Given the description of an element on the screen output the (x, y) to click on. 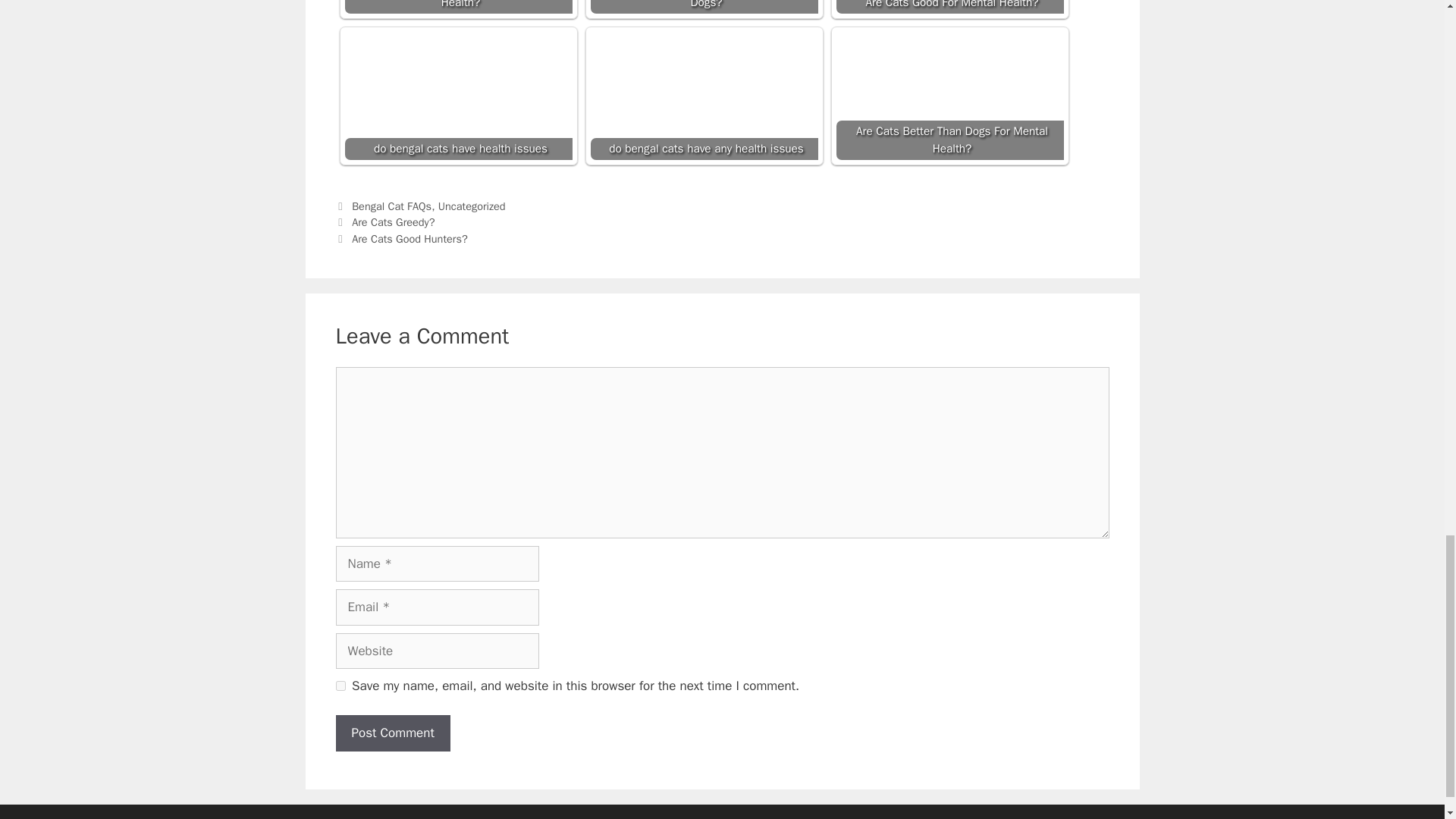
yes (339, 685)
Are Cats Greedy? (392, 222)
Are Cats Good For Mental Health? (948, 6)
Uncategorized (471, 205)
Are Cats Better Than Dogs For Mental Health? (948, 95)
do bengal cats have health issues (457, 95)
Bengal Cat FAQs (391, 205)
Why Are Cats Better Than Dogs For Your Health? (457, 6)
Post Comment (391, 732)
Are Cats Good Hunters? (409, 238)
do bengal cats have any health issues (702, 95)
Are Cats Better For Your Mental Health Than Dogs? (702, 6)
Post Comment (391, 732)
